Given the description of an element on the screen output the (x, y) to click on. 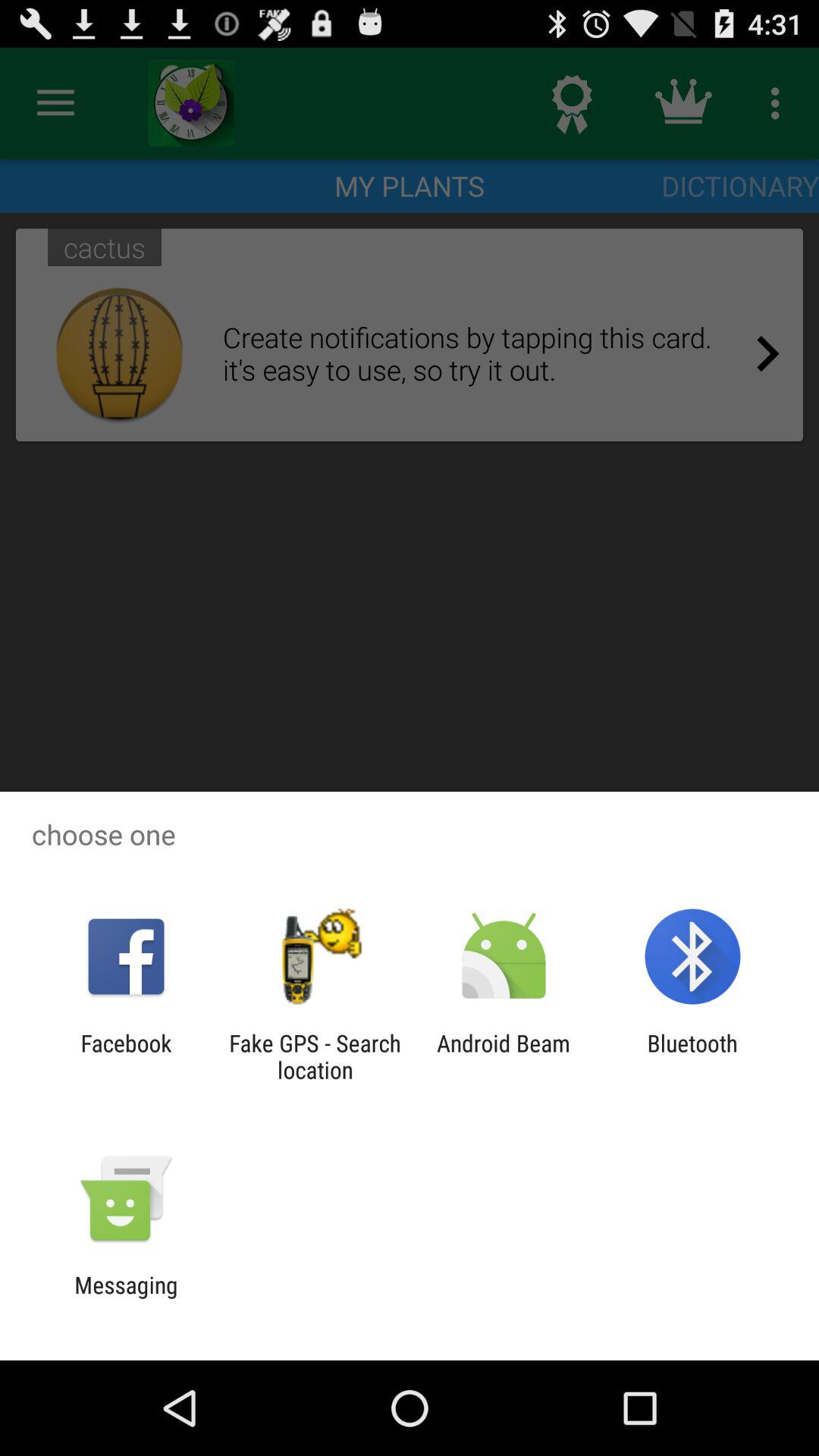
click messaging (126, 1298)
